Given the description of an element on the screen output the (x, y) to click on. 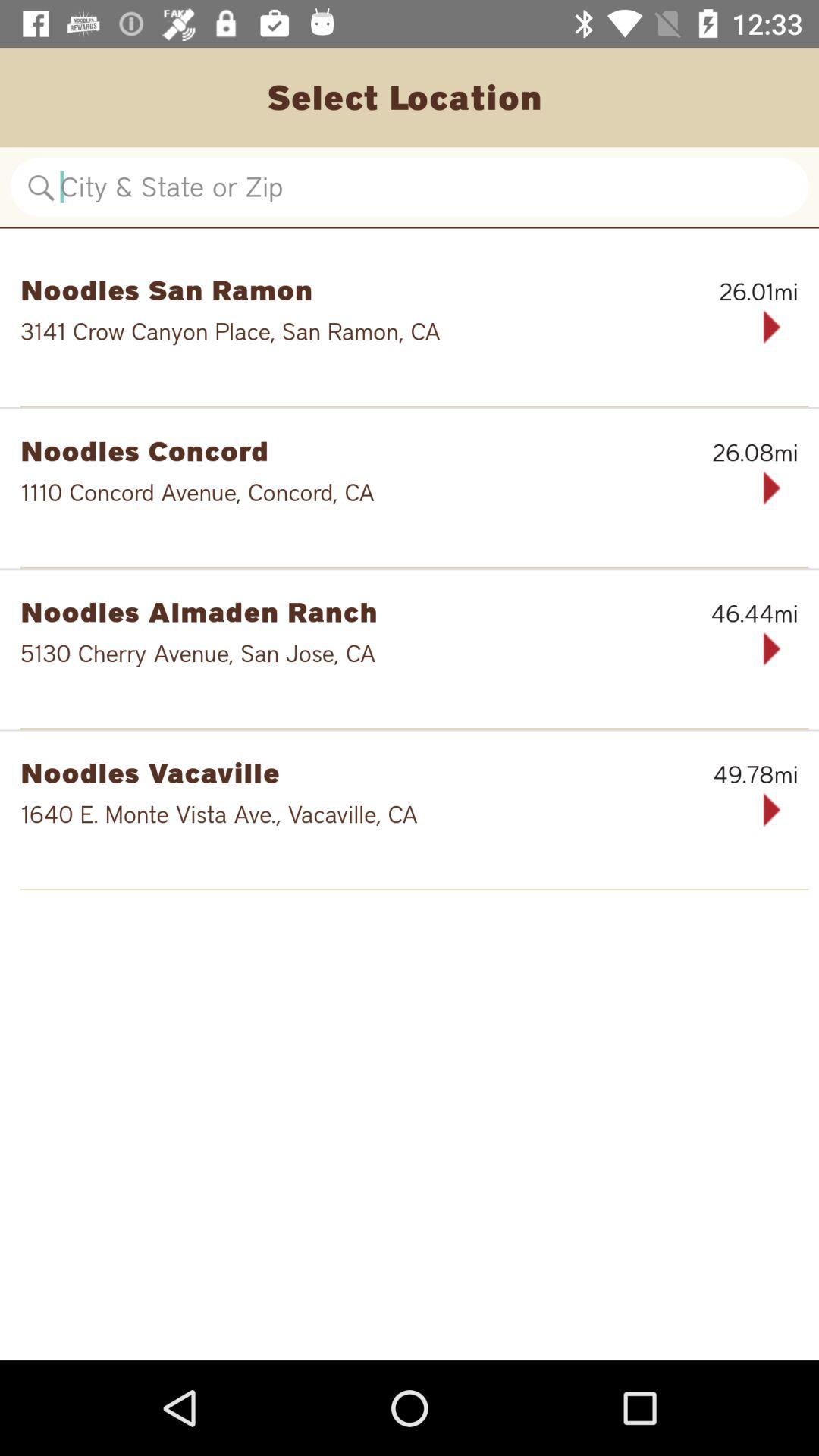
choose item next to noodles vacaville (720, 774)
